Given the description of an element on the screen output the (x, y) to click on. 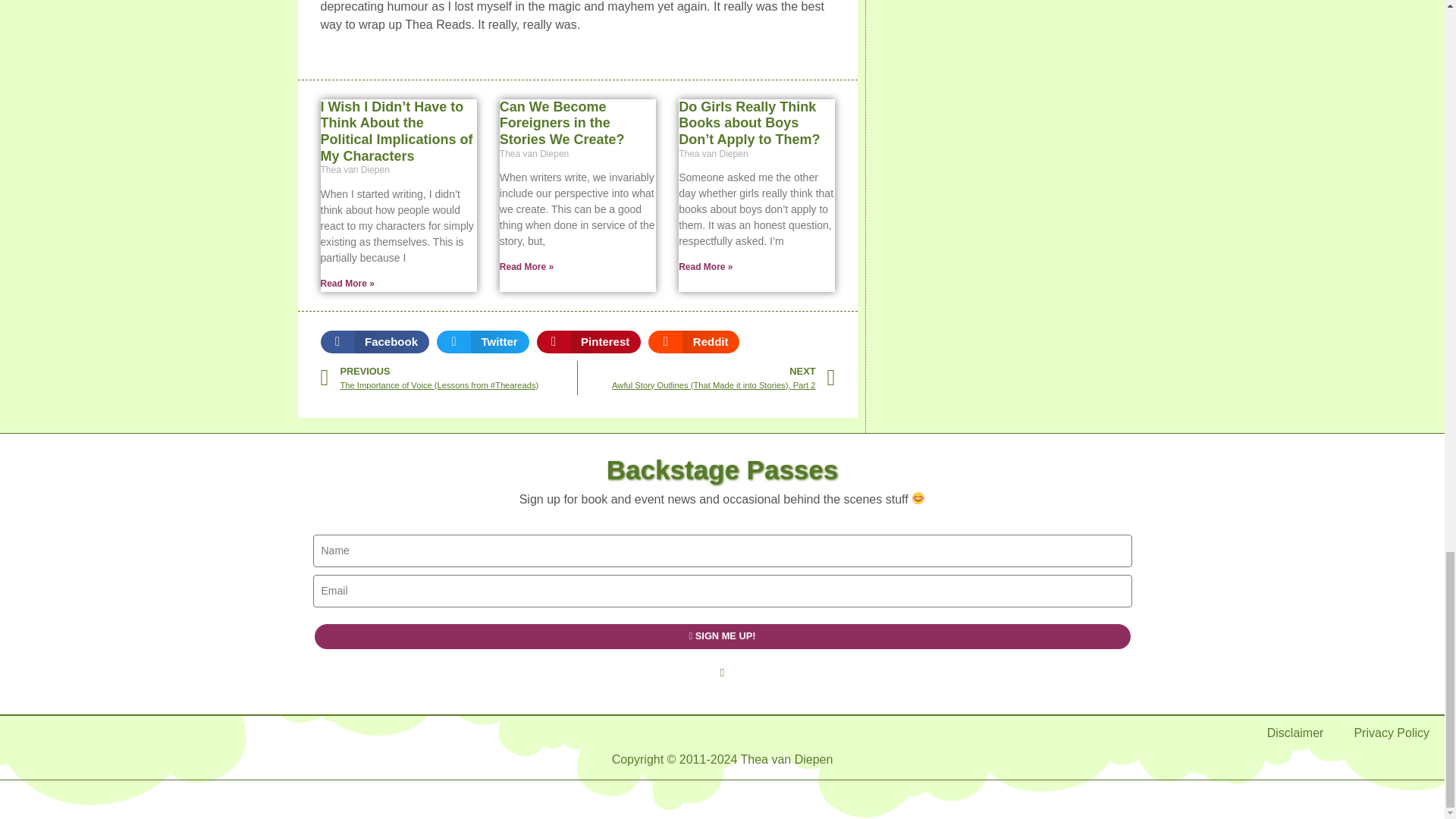
Can We Become Foreigners in the Stories We Create? (561, 123)
